Given the description of an element on the screen output the (x, y) to click on. 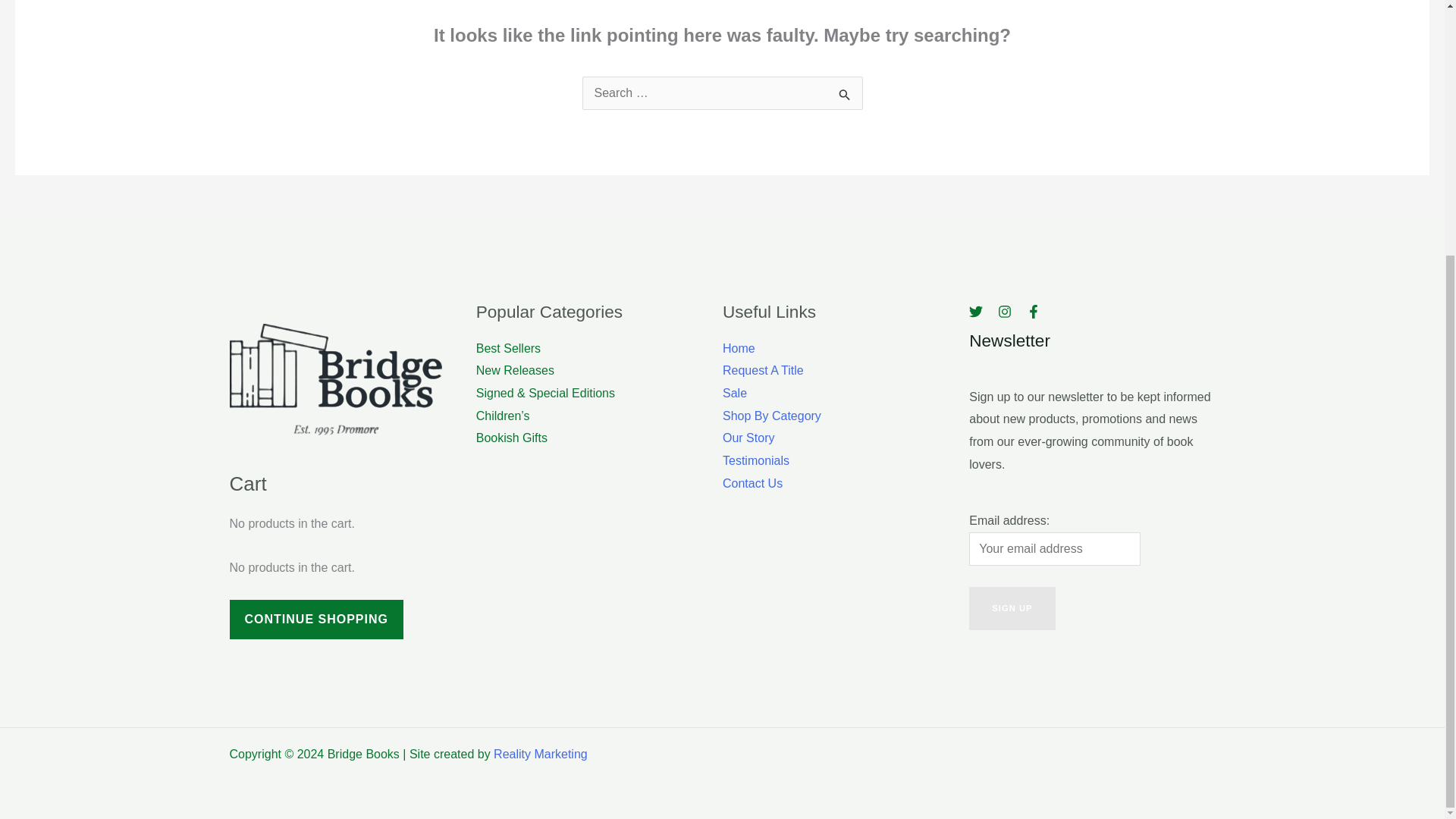
Search (844, 94)
Sign up (1011, 608)
Search (844, 94)
